Given the description of an element on the screen output the (x, y) to click on. 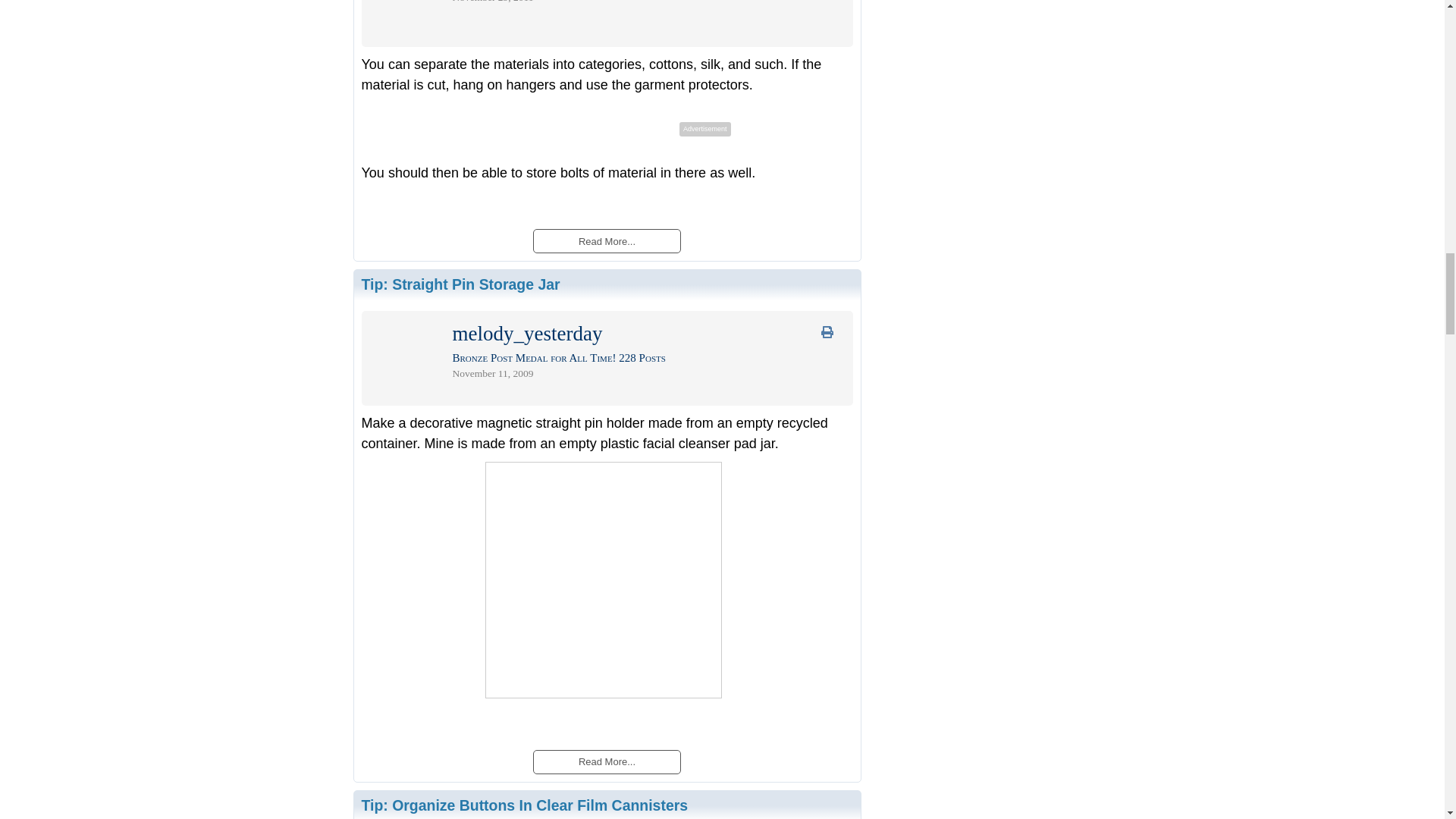
Read More... (605, 761)
Tip: Organize Buttons In Clear Film Cannisters (524, 805)
Tip: Straight Pin Storage Jar (460, 284)
Read More... (605, 240)
